Given the description of an element on the screen output the (x, y) to click on. 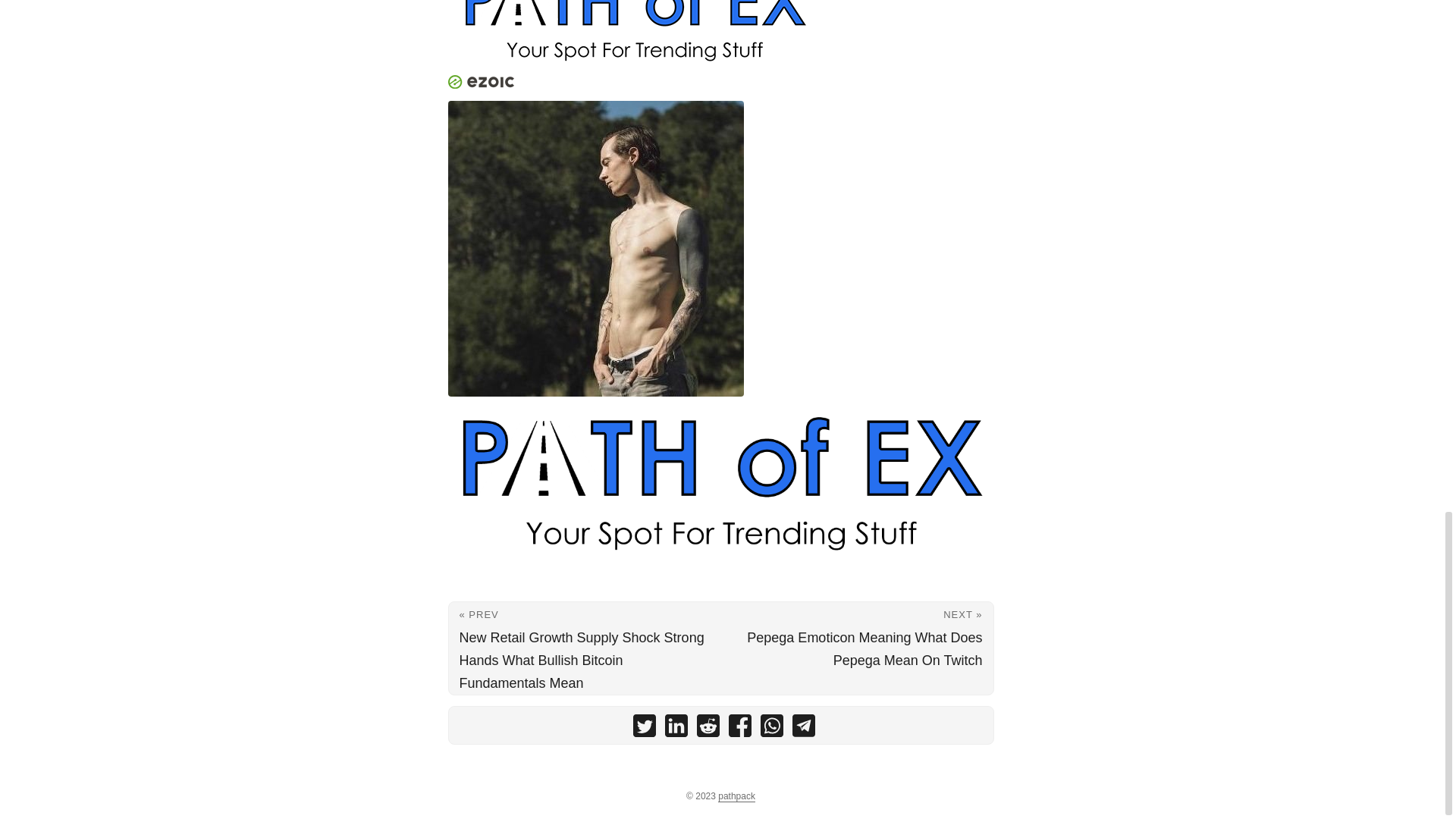
pathpack (736, 795)
